Given the description of an element on the screen output the (x, y) to click on. 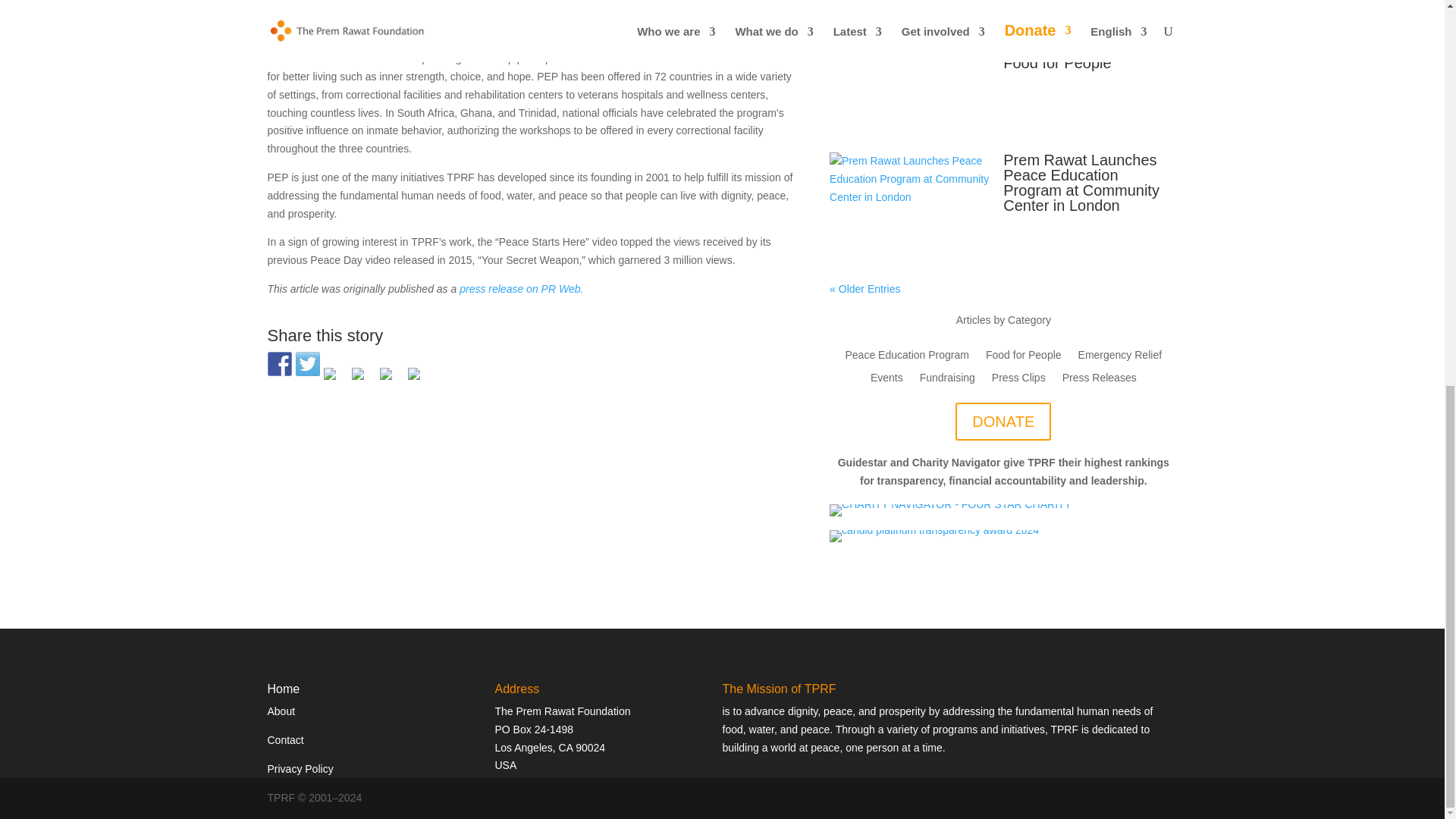
Peace Education Program (670, 39)
Share on Facebook (278, 363)
press release on PR Web. (521, 288)
Share on Twitter (307, 363)
Share on Reddit (335, 378)
Peace Education Program (670, 39)
Pin it with Pinterest (363, 378)
Share on Linkedin (390, 378)
